Given the description of an element on the screen output the (x, y) to click on. 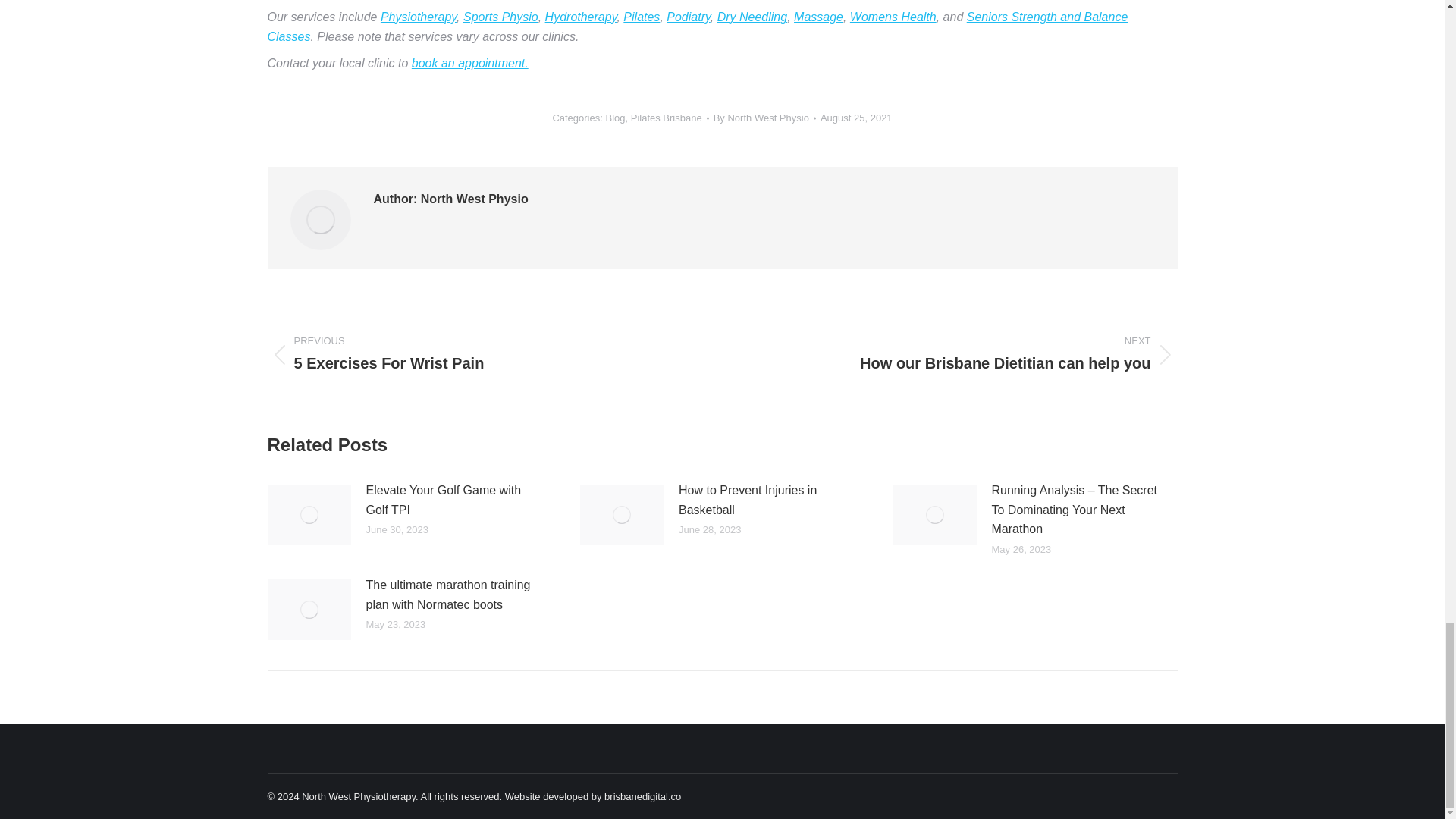
11:43 am (856, 118)
View all posts by North West Physio (764, 118)
